Given the description of an element on the screen output the (x, y) to click on. 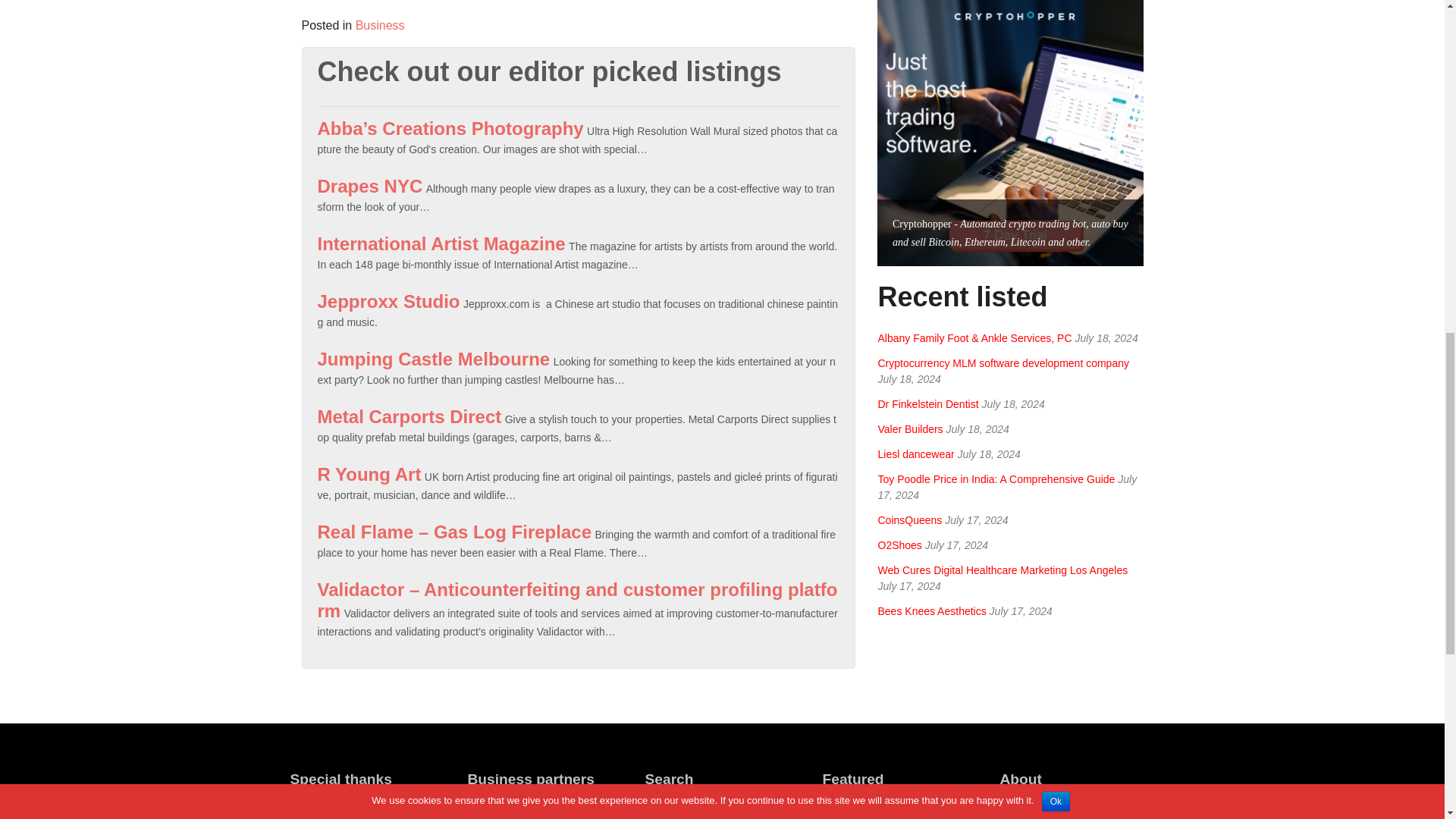
Jumping Castle Melbourne (433, 358)
Valer Builders (910, 428)
Liesl dancewear (916, 453)
O2Shoes (899, 544)
Cryptocurrency MLM software development company (1003, 363)
Metal Carports Direct (408, 416)
Web Cures Digital Healthcare Marketing Los Angeles (1002, 570)
Jepproxx Studio (388, 301)
Dr Finkelstein Dentist (927, 404)
Drapes NYC (369, 186)
Business (379, 24)
International Artist Magazine (440, 243)
Toy Poodle Price in India: A Comprehensive Guide (996, 479)
R Young Art (368, 474)
CoinsQueens (909, 520)
